Given the description of an element on the screen output the (x, y) to click on. 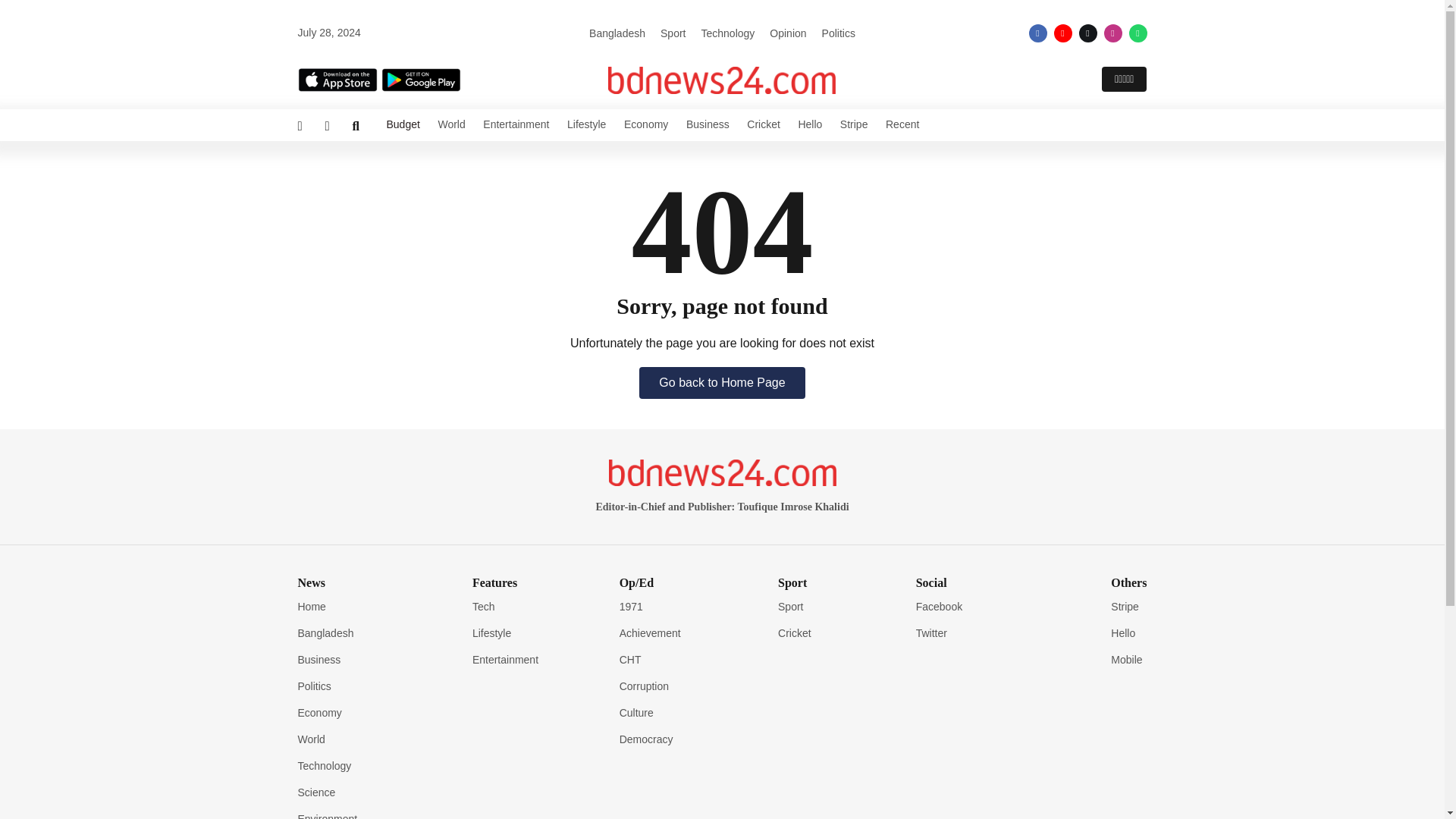
bdnews24.com (721, 80)
Sport (673, 33)
Bangladesh (617, 33)
